Given the description of an element on the screen output the (x, y) to click on. 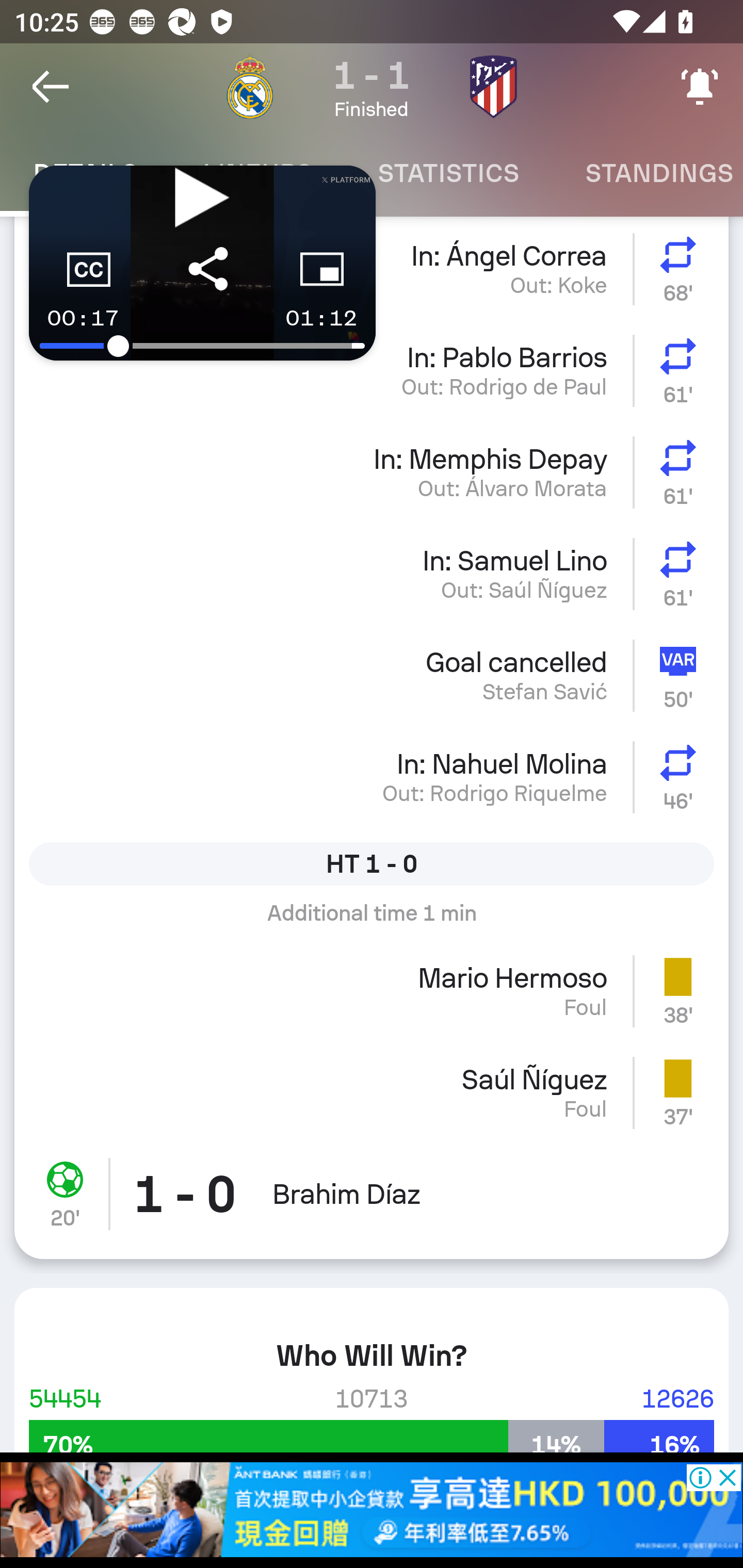
Navigate up (50, 86)
Statistics STATISTICS (448, 173)
Standings STANDINGS (647, 173)
Substitution (681, 370)
In: Samuel Lino Out: Saúl Ñíguez Substitution 61' (371, 573)
Goal cancelled Stefan Savić VAR VAR 50' (371, 674)
VAR (681, 674)
HT 1 - 0 (371, 863)
Additional time 1 min (371, 920)
Mario Hermoso Foul Yellow card 38' (371, 990)
Saúl Ñíguez Foul Yellow card 37' (371, 1092)
Goal 20'  1  -  0  Brahim Díaz (371, 1201)
